Given the description of an element on the screen output the (x, y) to click on. 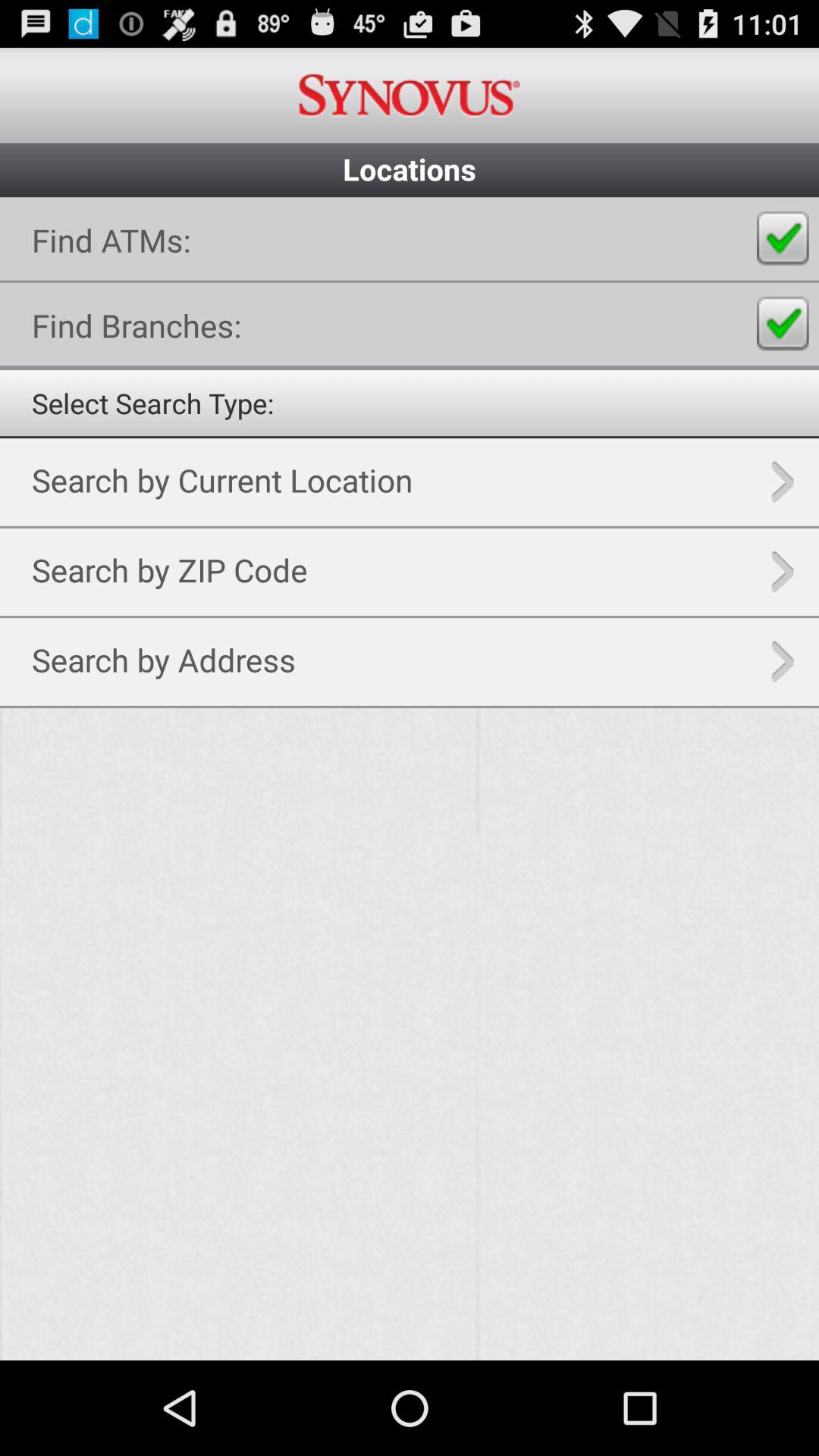
click the item to the right of the find atms: (782, 238)
